Given the description of an element on the screen output the (x, y) to click on. 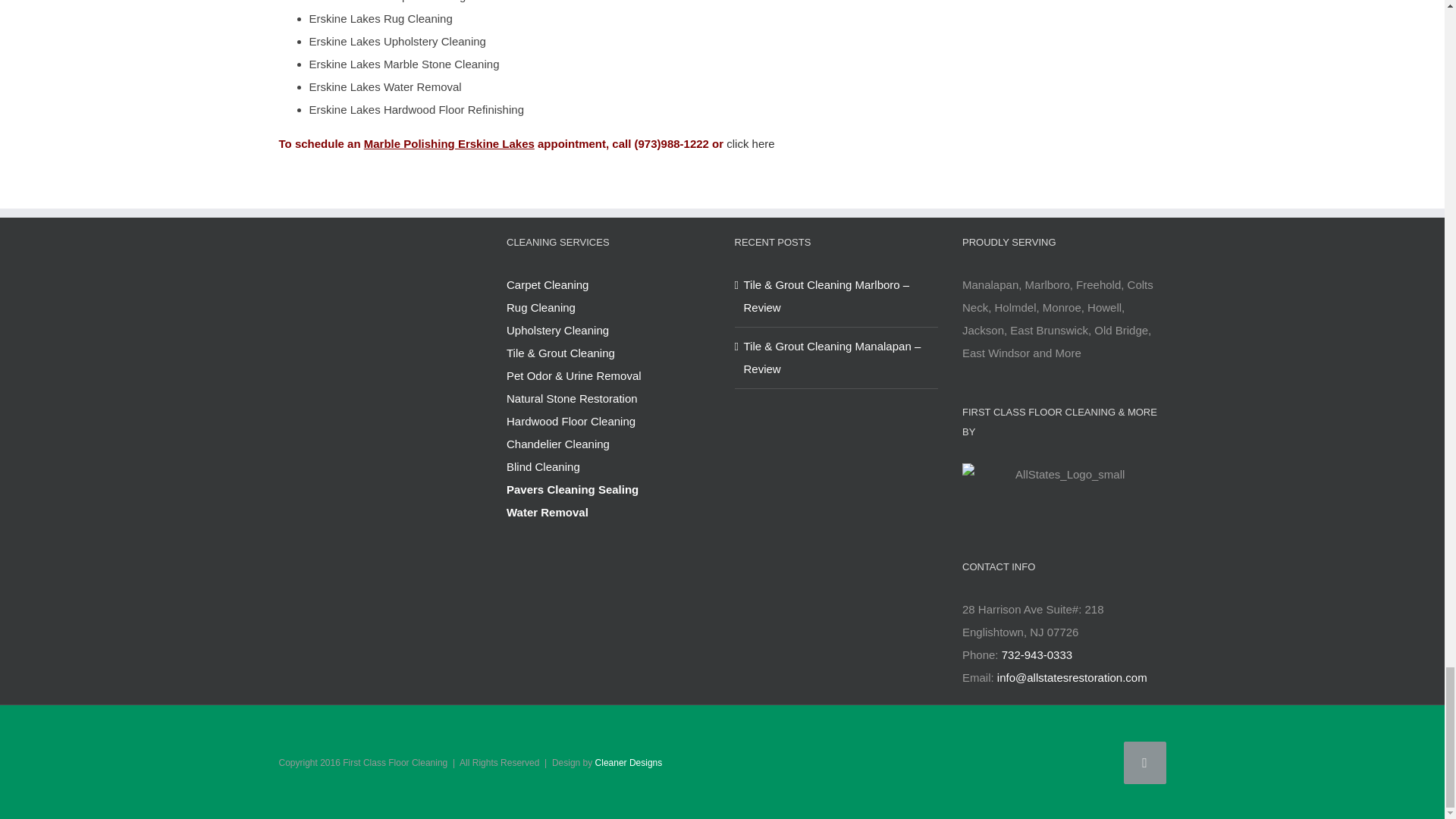
Upholstery Cleaning (608, 330)
Carpet Cleaning (608, 284)
click here (750, 143)
Rug Cleaning (608, 307)
Facebook (1145, 762)
